Given the description of an element on the screen output the (x, y) to click on. 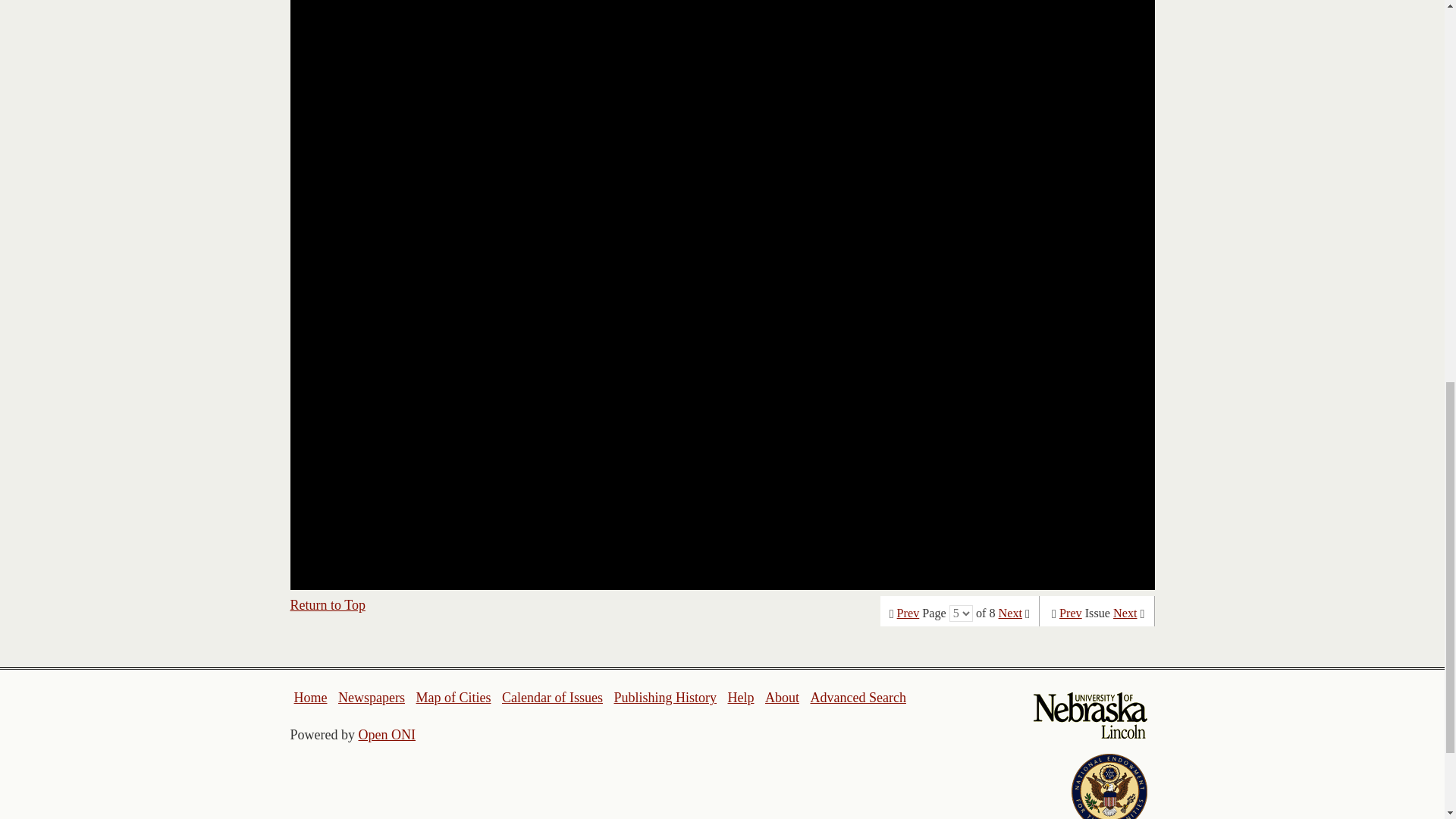
Publishing History (664, 697)
Next (1125, 612)
Prev (1070, 612)
Prev (908, 612)
Return to Top (327, 604)
Home (310, 697)
Open ONI (386, 734)
Help (740, 697)
Newspapers (370, 697)
Calendar of Issues (552, 697)
